Given the description of an element on the screen output the (x, y) to click on. 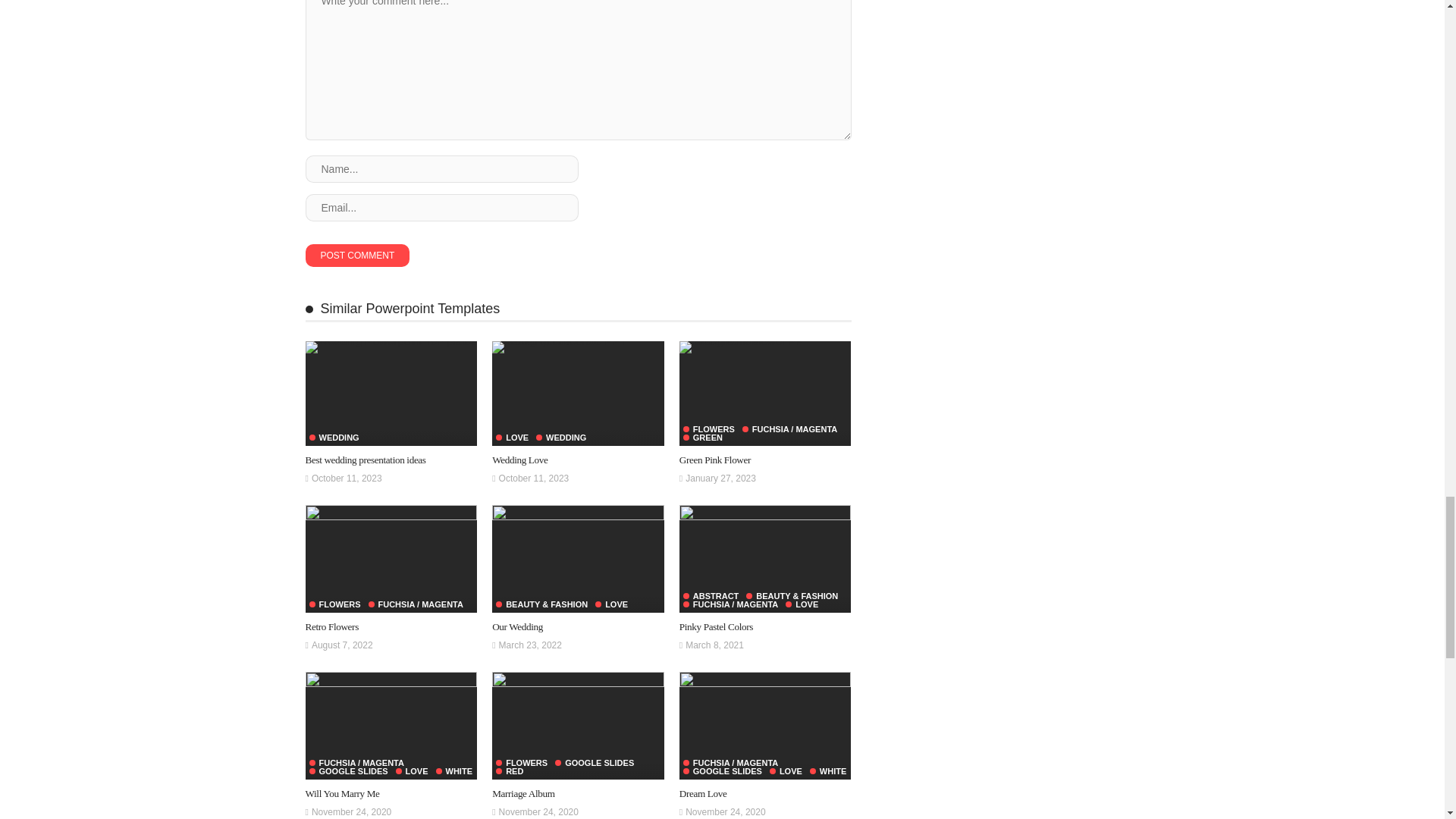
Post Comment (356, 255)
